Given the description of an element on the screen output the (x, y) to click on. 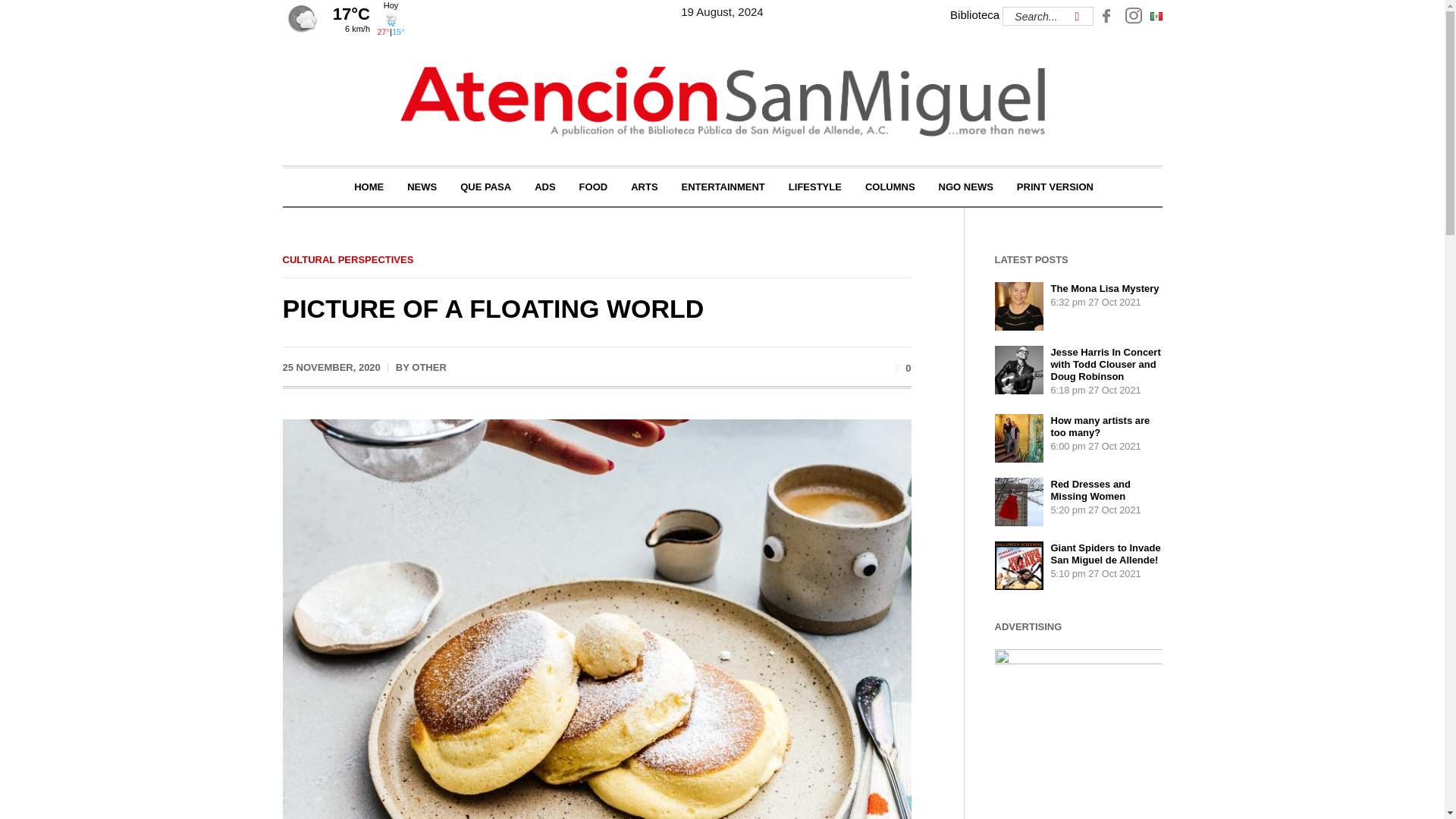
COLUMNS (889, 187)
PRINT VERSION (1055, 187)
QUE PASA (485, 187)
Biblioteca (974, 14)
Posts by Other (429, 367)
CULTURAL PERSPECTIVES (347, 259)
ENTERTAINMENT (722, 187)
NEWS (422, 187)
25 November, 2020 (331, 367)
